Given the description of an element on the screen output the (x, y) to click on. 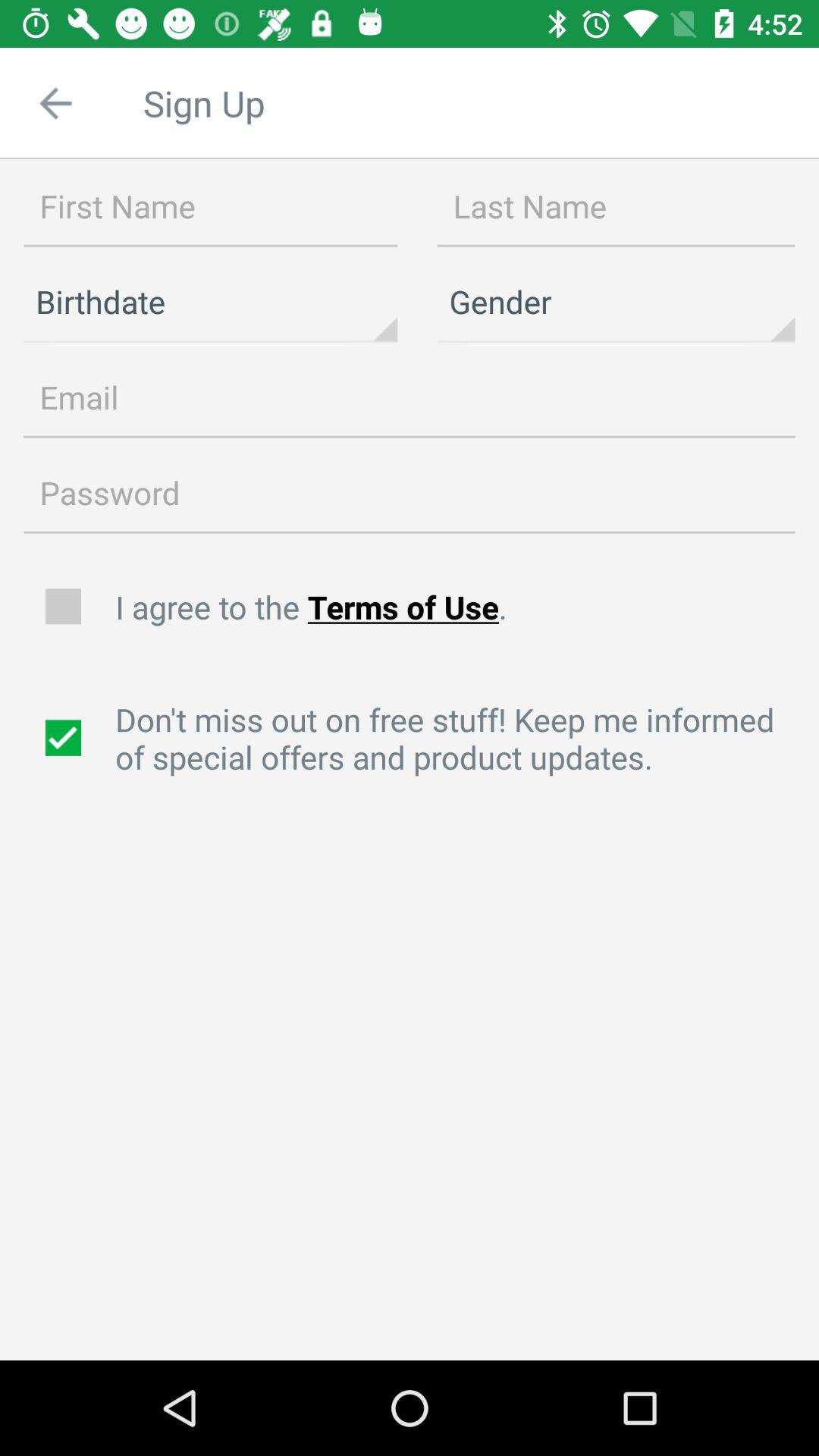
click for further updates and offers (65, 738)
